Given the description of an element on the screen output the (x, y) to click on. 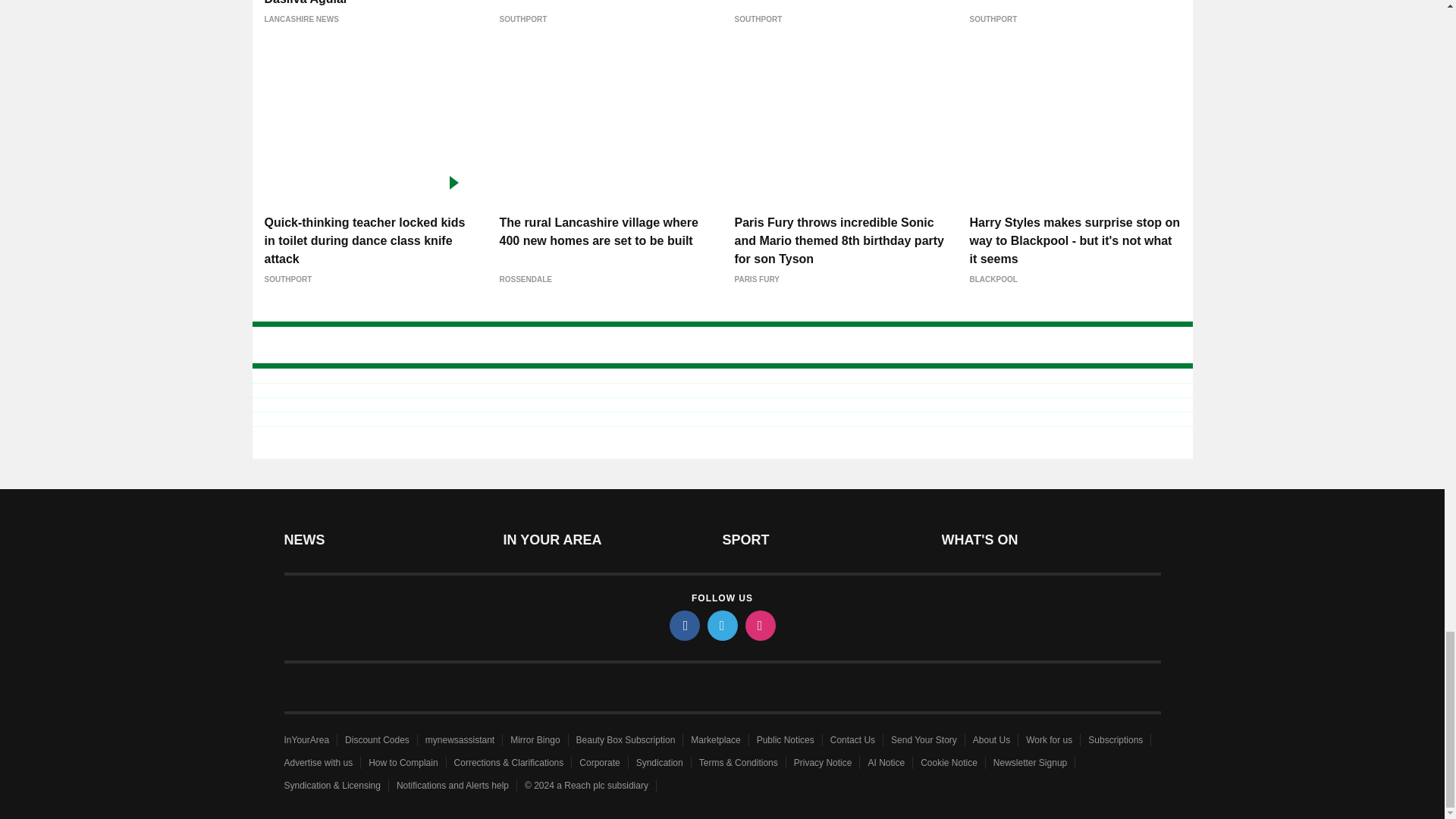
instagram (759, 625)
facebook (683, 625)
twitter (721, 625)
